Given the description of an element on the screen output the (x, y) to click on. 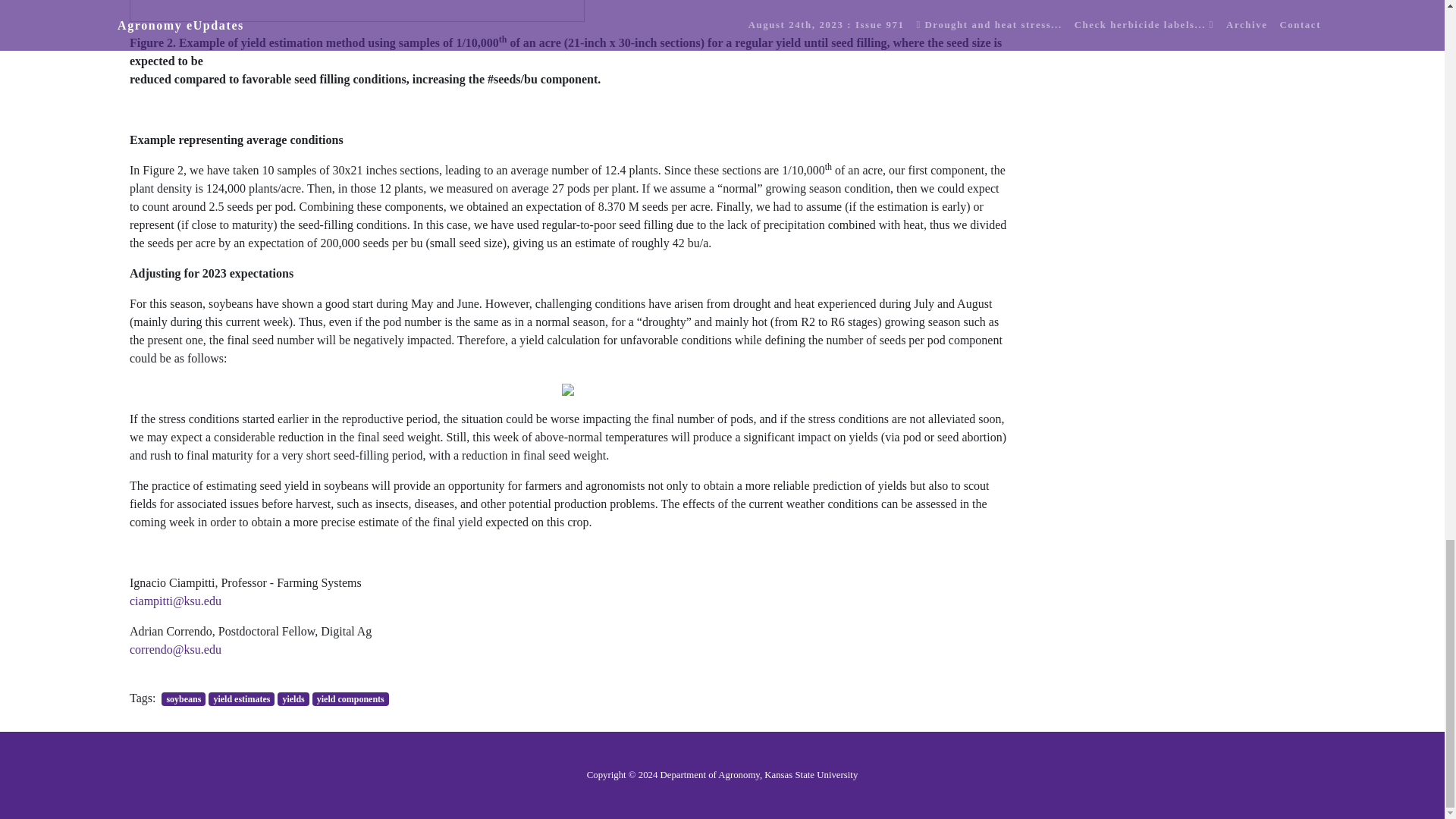
yields (293, 698)
yield components (350, 698)
soybeans (183, 698)
yield estimates (241, 698)
